Given the description of an element on the screen output the (x, y) to click on. 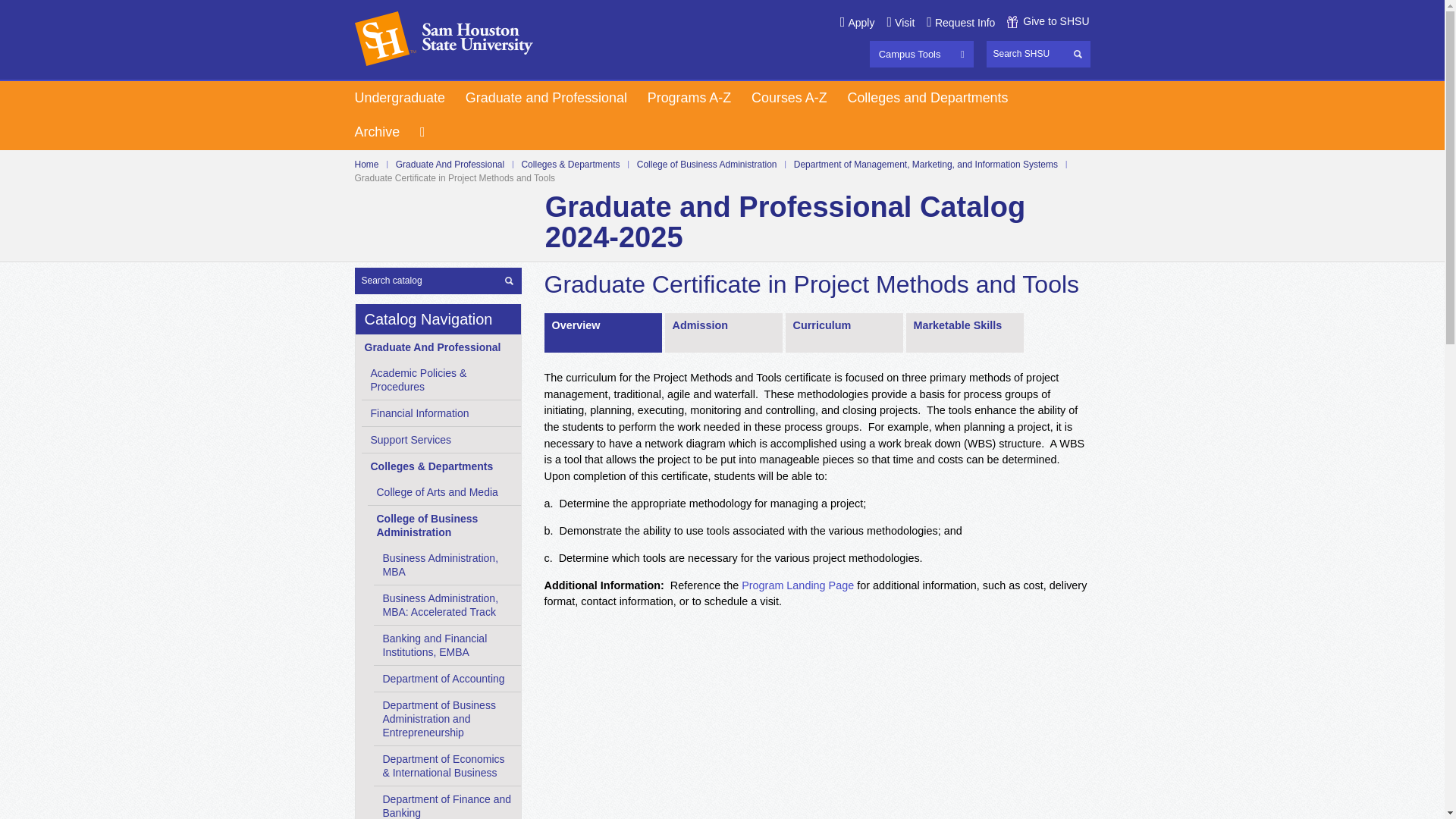
Search (1077, 53)
Search Catalog (438, 279)
Search (509, 280)
Search (1037, 53)
